Given the description of an element on the screen output the (x, y) to click on. 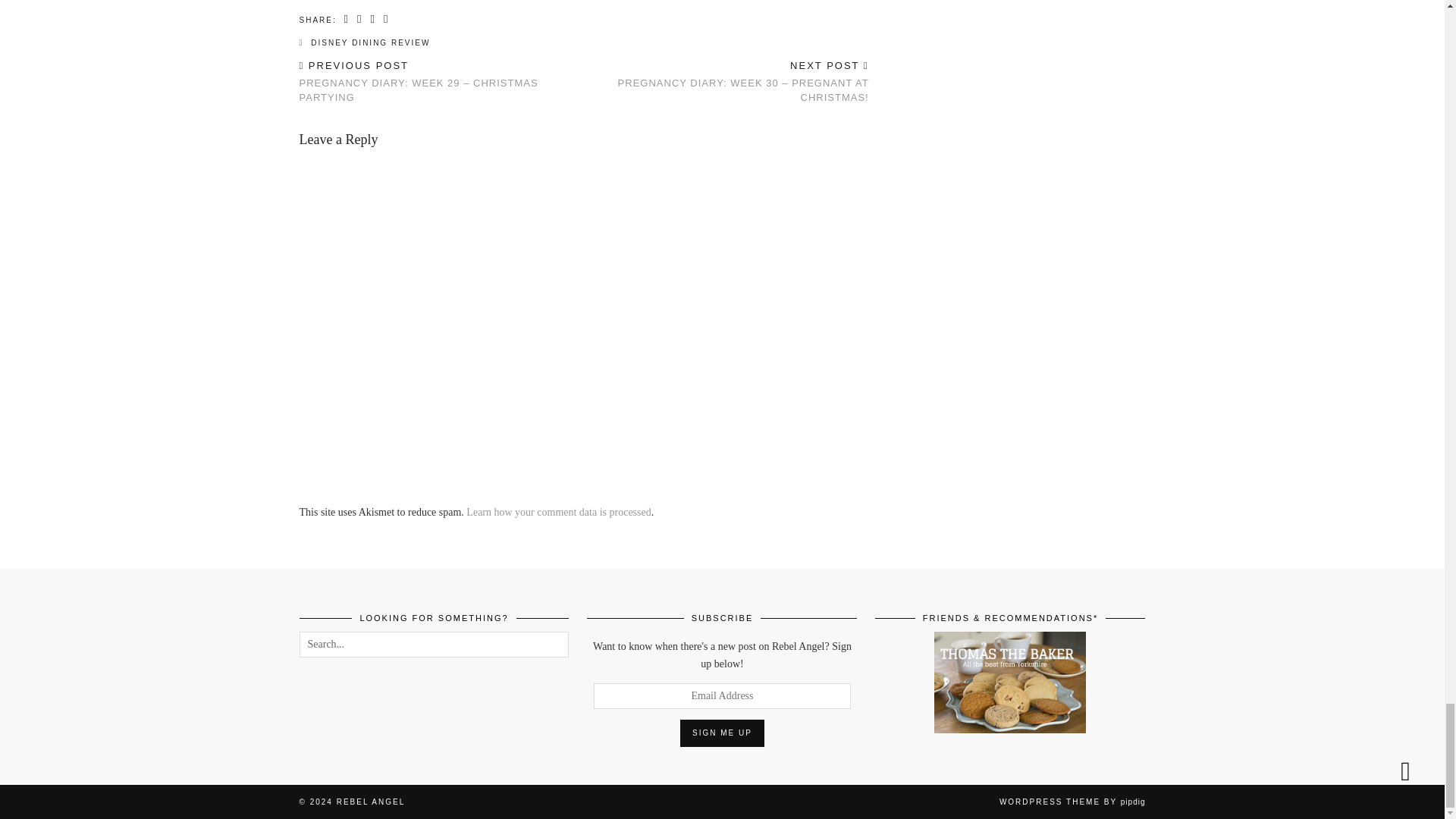
Share on Pinterest (372, 19)
Share on Twitter (359, 19)
Share on Facebook (346, 19)
Share on tumblr (386, 19)
